Given the description of an element on the screen output the (x, y) to click on. 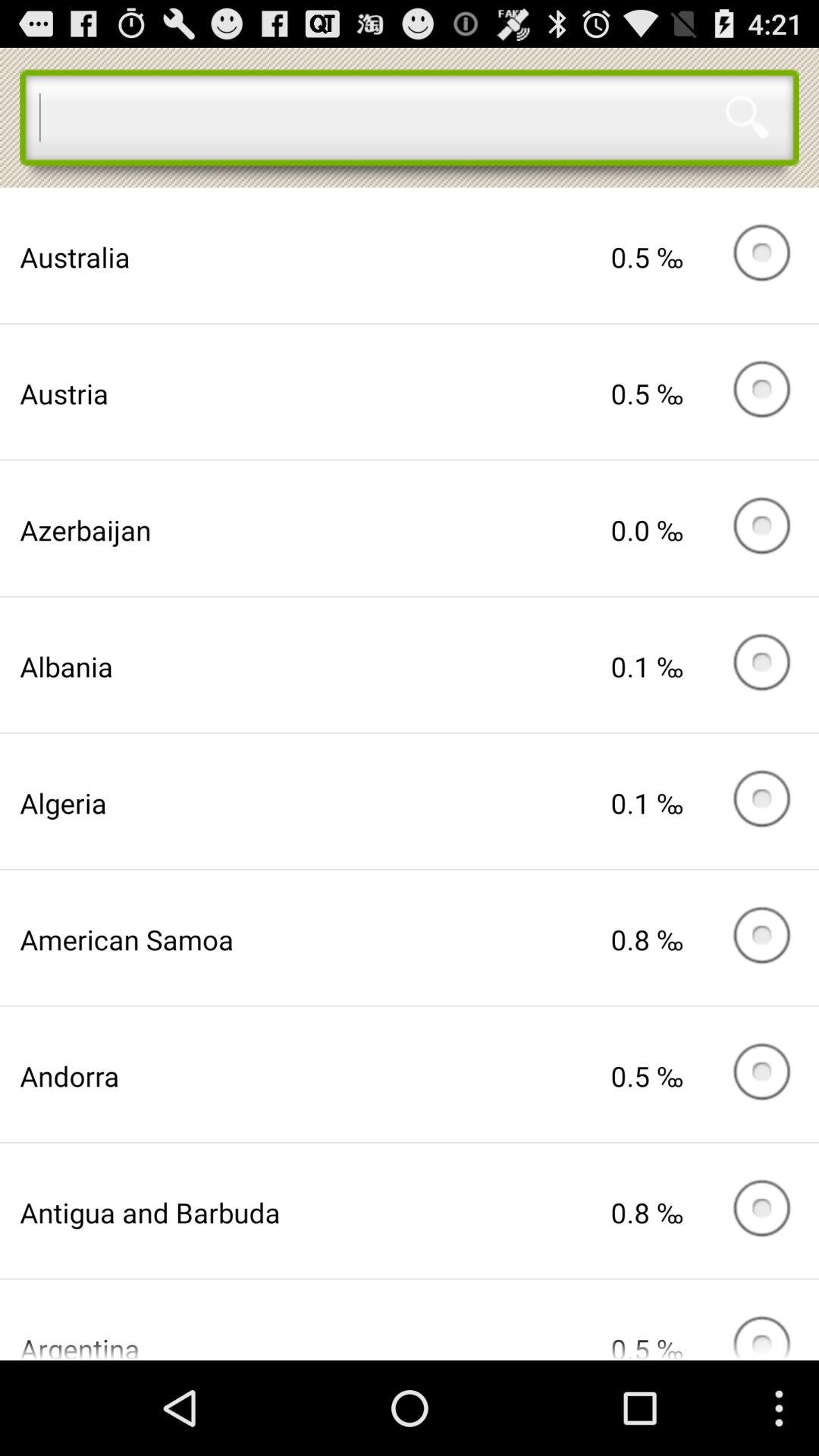
launch app below the antigua and barbuda item (314, 1345)
